Given the description of an element on the screen output the (x, y) to click on. 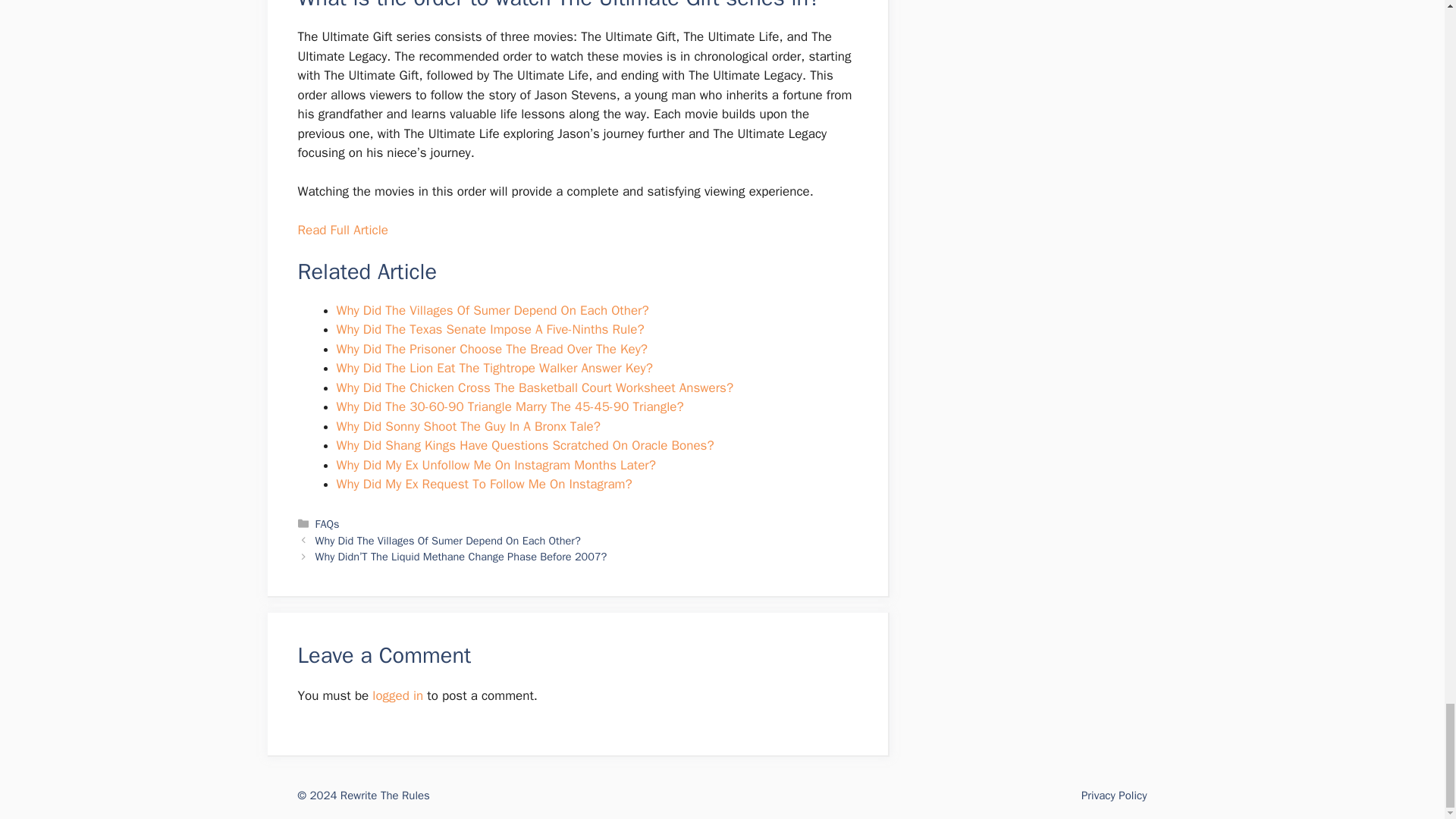
Why Did The Prisoner Choose The Bread Over The Key? (491, 349)
Why Did The Villages Of Sumer Depend On Each Other? (447, 540)
Why Did The Texas Senate Impose A Five-Ninths Rule? (490, 329)
Why Did My Ex Request To Follow Me On Instagram? (483, 483)
Why Did The Villages Of Sumer Depend On Each Other? (492, 310)
Read Full Article (342, 229)
Why Did The 30-60-90 Triangle Marry The 45-45-90 Triangle? (510, 406)
Why Did My Ex Unfollow Me On Instagram Months Later? (496, 465)
